Given the description of an element on the screen output the (x, y) to click on. 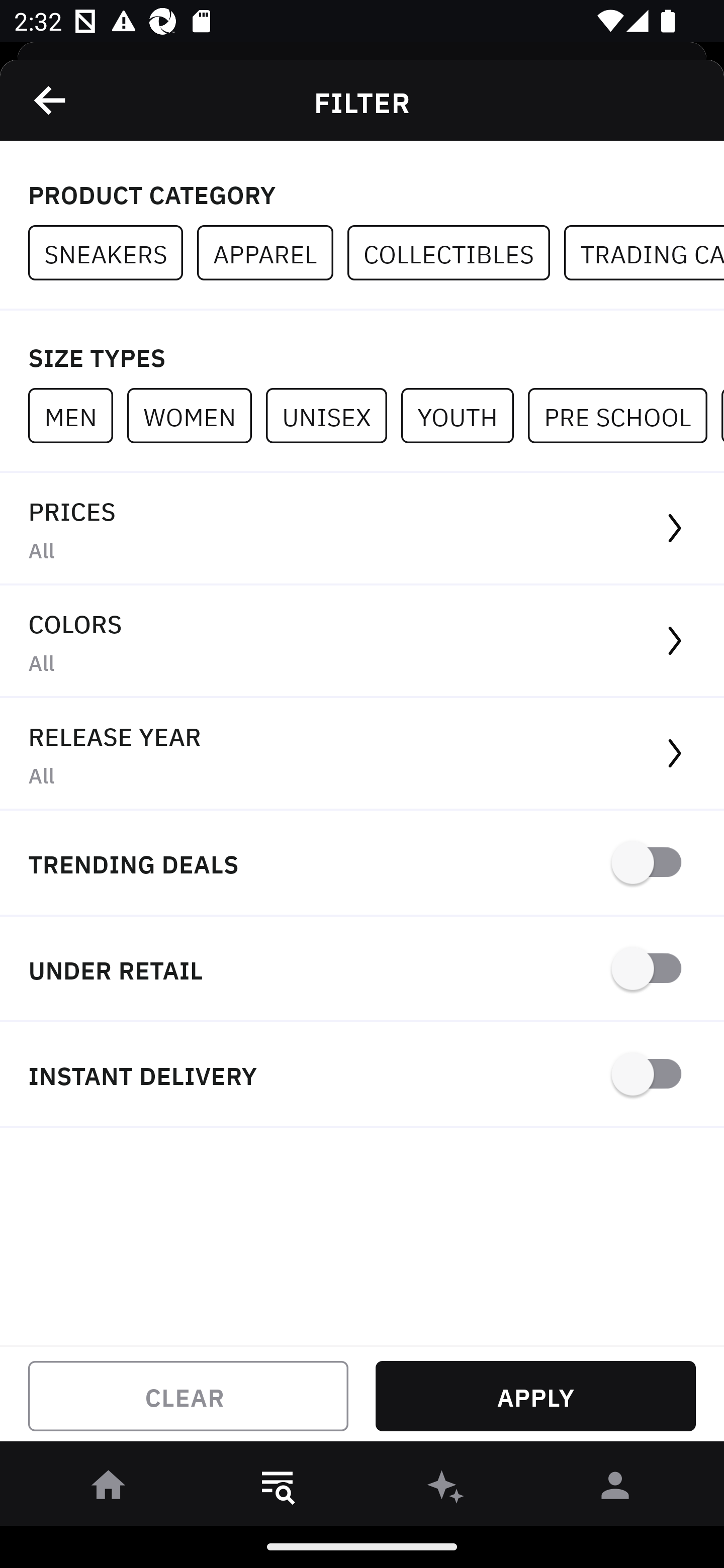
 (50, 100)
SNEAKERS (112, 252)
APPAREL (271, 252)
COLLECTIBLES (455, 252)
TRADING CARDS (643, 252)
MEN (77, 415)
WOMEN (196, 415)
UNISEX (333, 415)
YOUTH (464, 415)
PRE SCHOOL (624, 415)
PRICES All (362, 528)
COLORS All (362, 640)
RELEASE YEAR All (362, 753)
TRENDING DEALS (362, 863)
UNDER RETAIL (362, 969)
INSTANT DELIVERY (362, 1075)
CLEAR  (188, 1396)
APPLY (535, 1396)
󰋜 (108, 1488)
󱎸 (277, 1488)
󰫢 (446, 1488)
󰀄 (615, 1488)
